Given the description of an element on the screen output the (x, y) to click on. 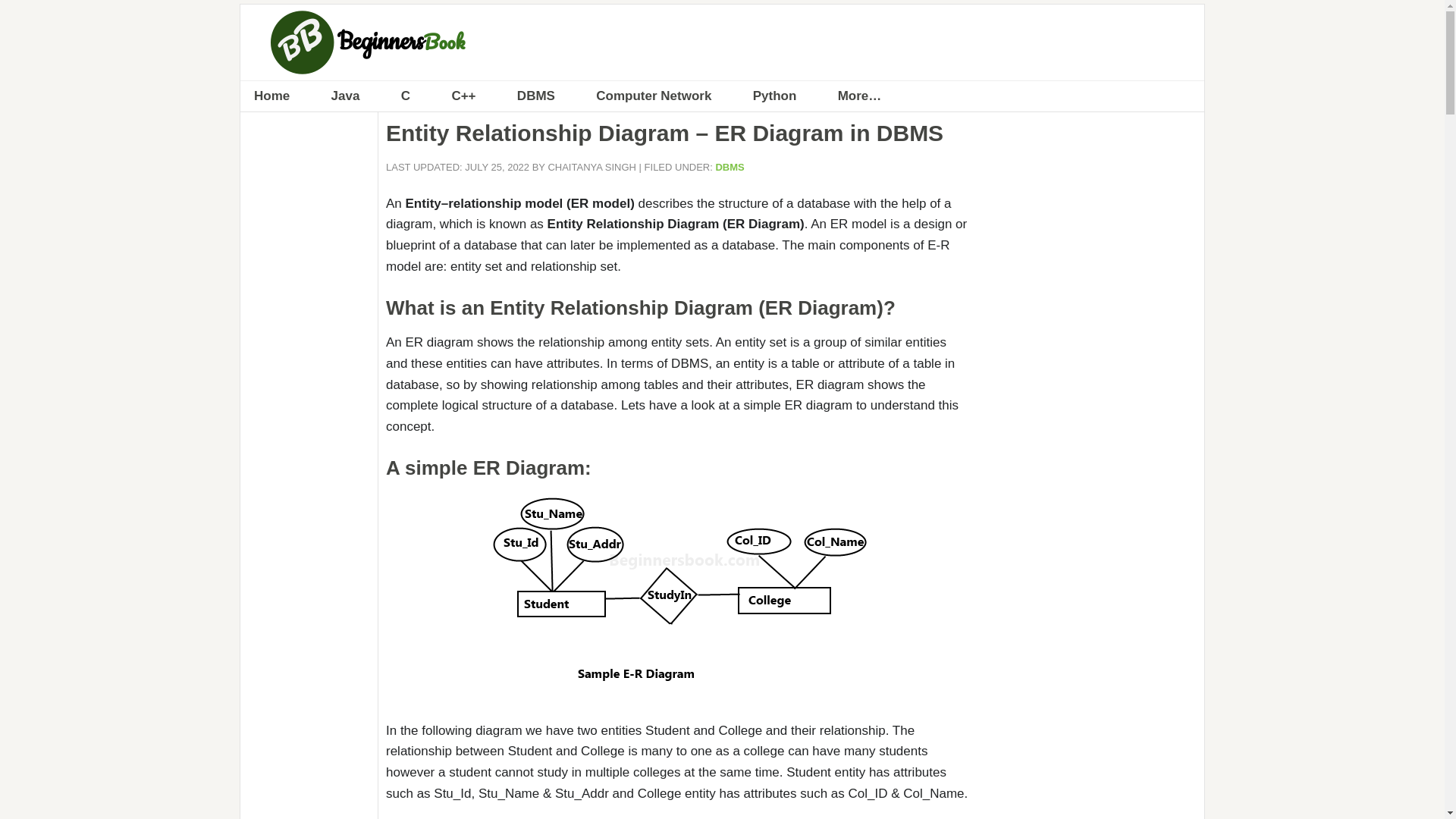
DBMS (536, 96)
Java (345, 96)
Home (271, 96)
Computer Network (653, 96)
C (405, 96)
Python (774, 96)
BEGINNERSBOOK (721, 42)
DBMS (729, 165)
Advertisement (1090, 708)
